Given the description of an element on the screen output the (x, y) to click on. 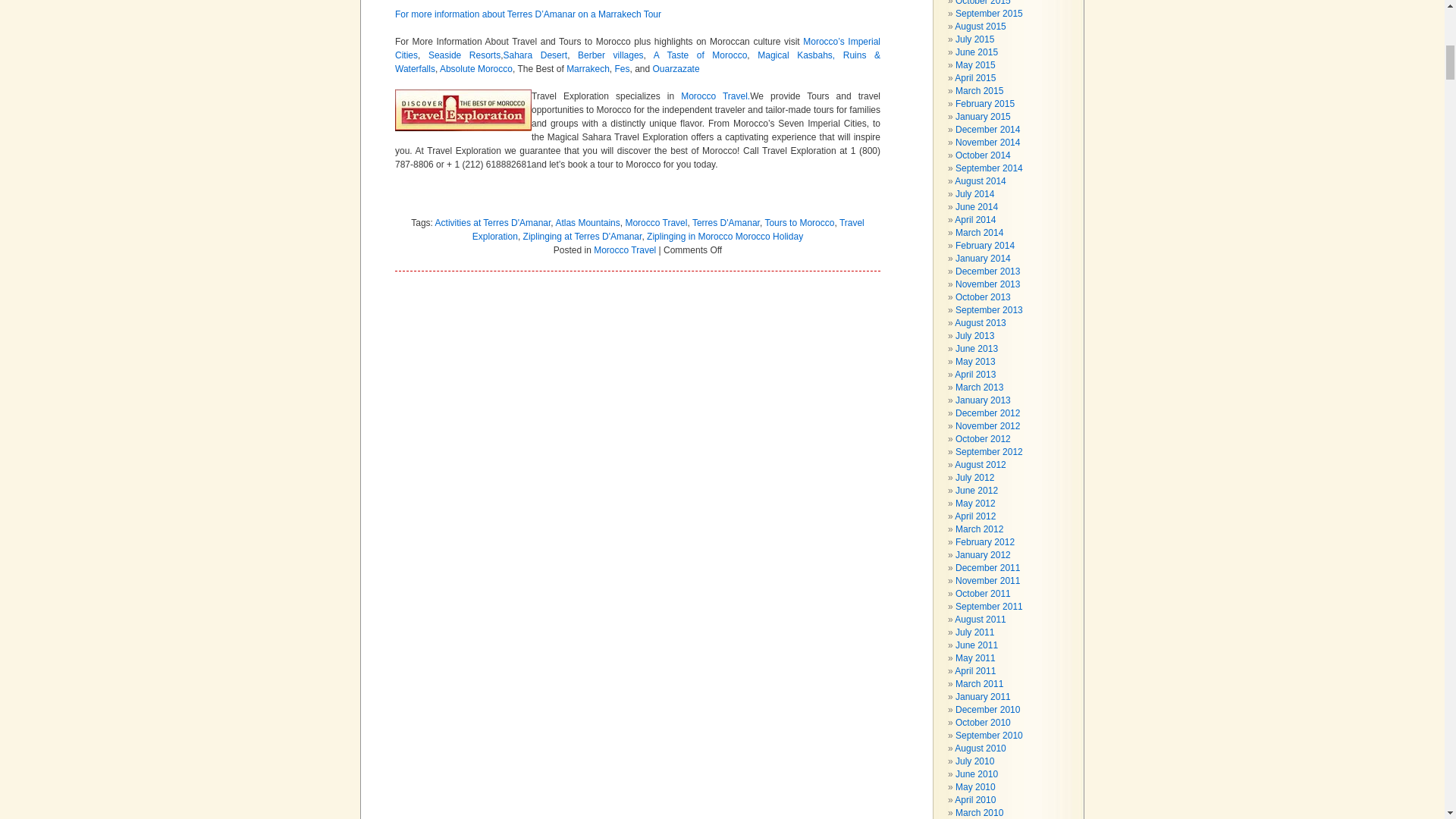
Berber villages (610, 54)
Absolute Morocco (475, 68)
Fes (621, 68)
Sahara Desert (535, 54)
travel-exploration-signature-logo-link13 (462, 110)
Marrakech (588, 68)
Ouarzazate (676, 68)
Seaside Resorts (464, 54)
